Given the description of an element on the screen output the (x, y) to click on. 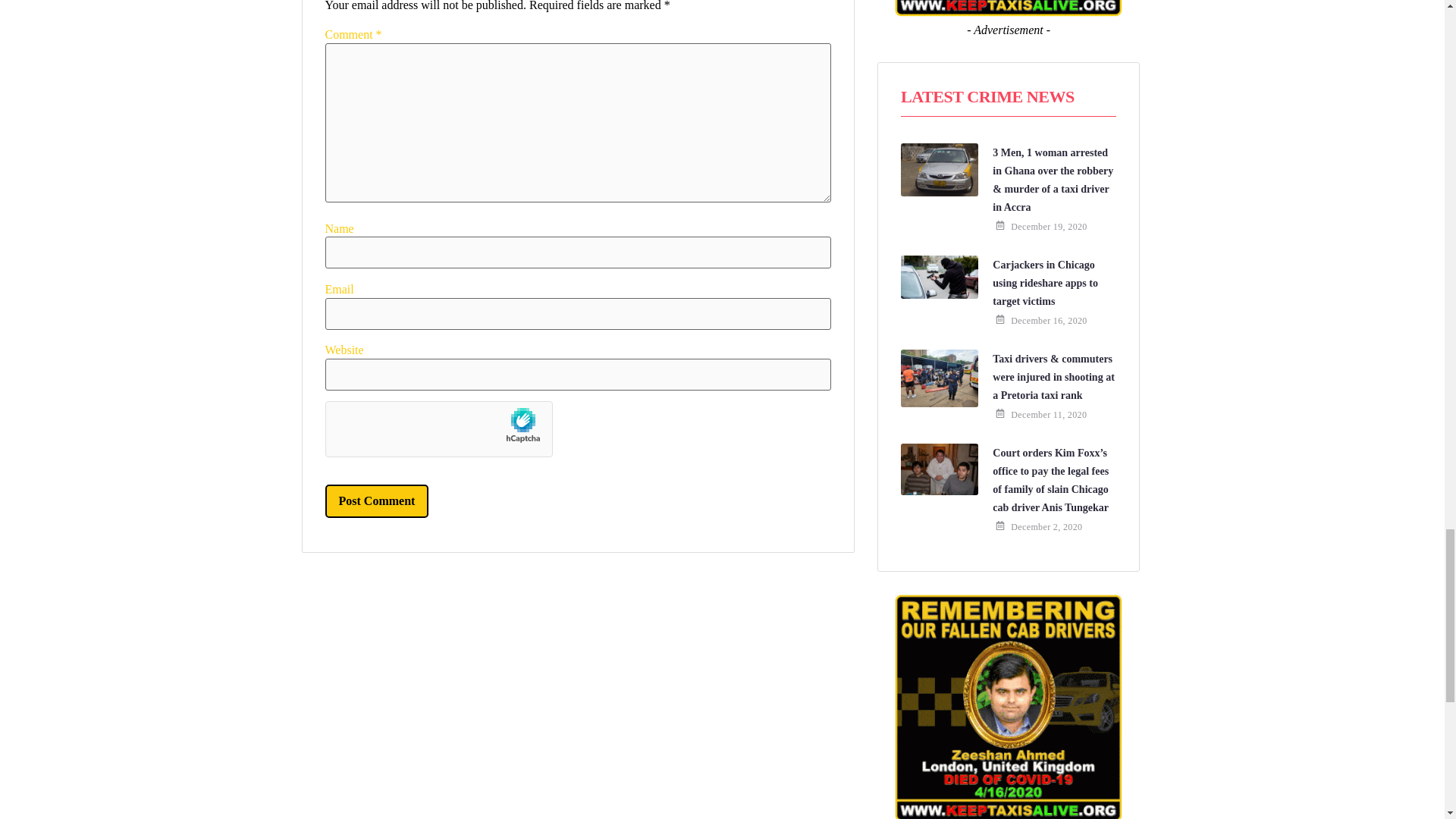
Post Comment (376, 500)
